Given the description of an element on the screen output the (x, y) to click on. 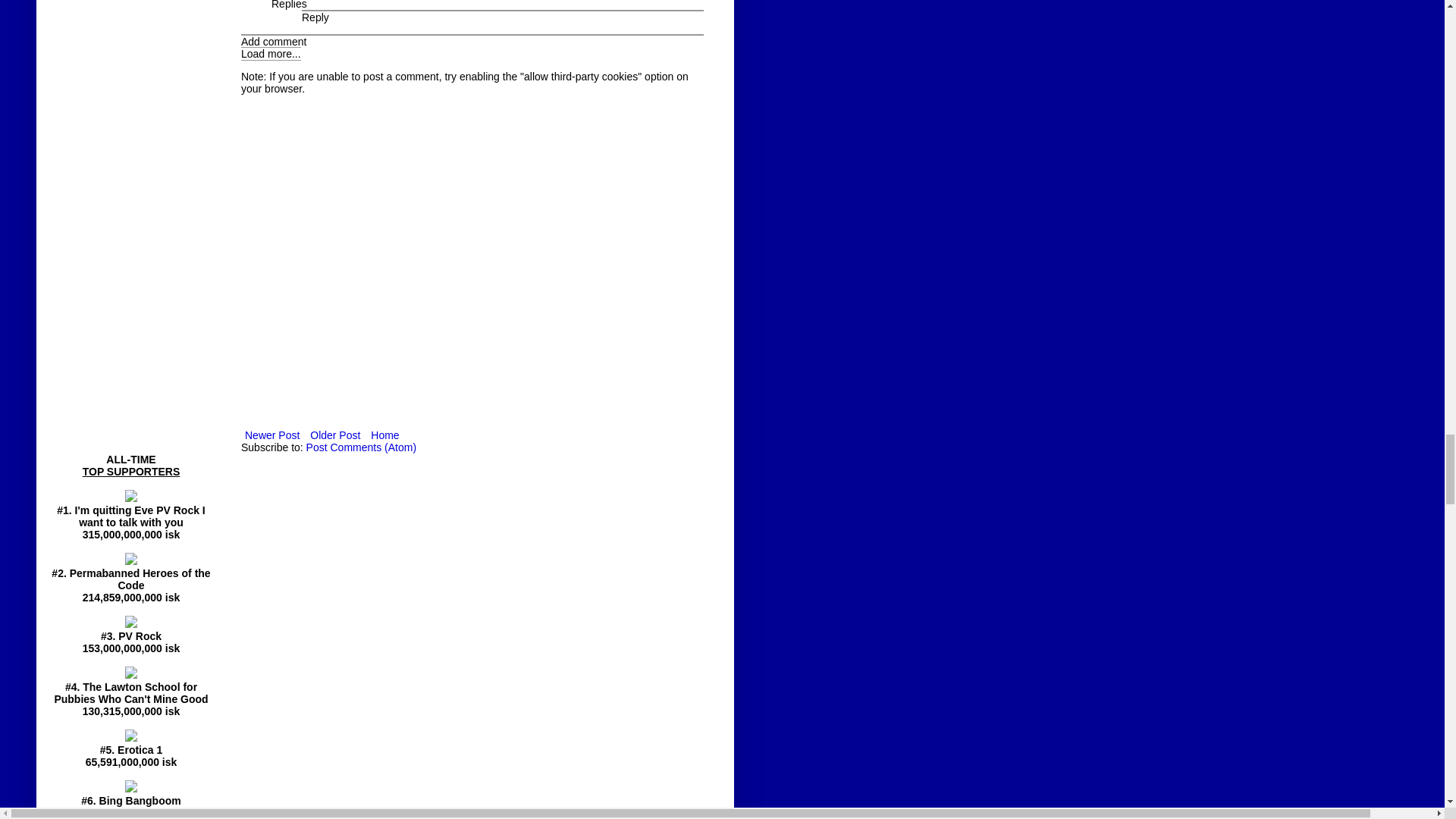
Newer Post (271, 435)
Older Post (334, 435)
